Given the description of an element on the screen output the (x, y) to click on. 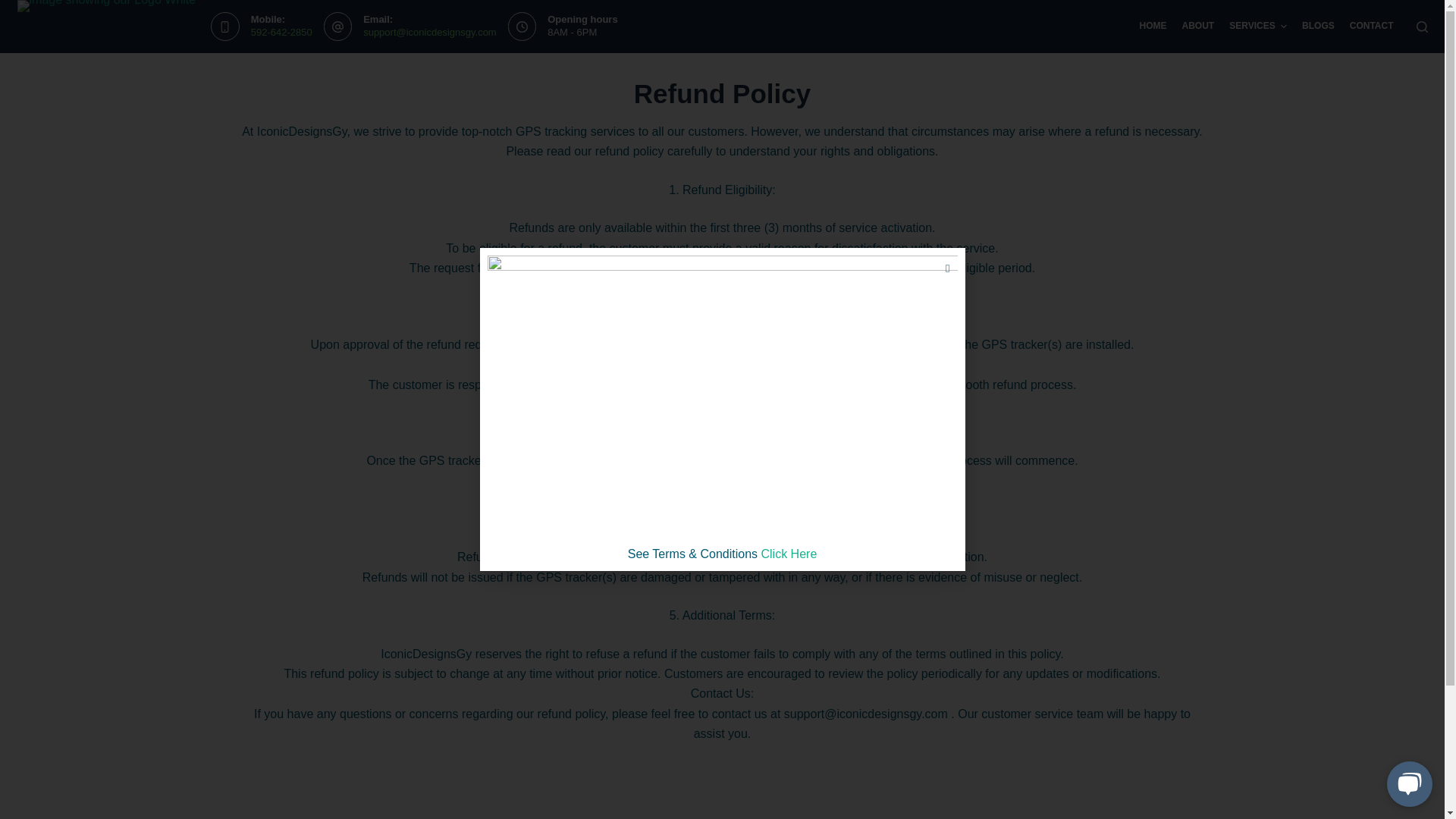
CONTACT (1371, 26)
Skip to content (15, 7)
BLOGS (1318, 26)
SERVICES (1257, 26)
ABOUT (1198, 26)
592-642-2850 (281, 31)
